Given the description of an element on the screen output the (x, y) to click on. 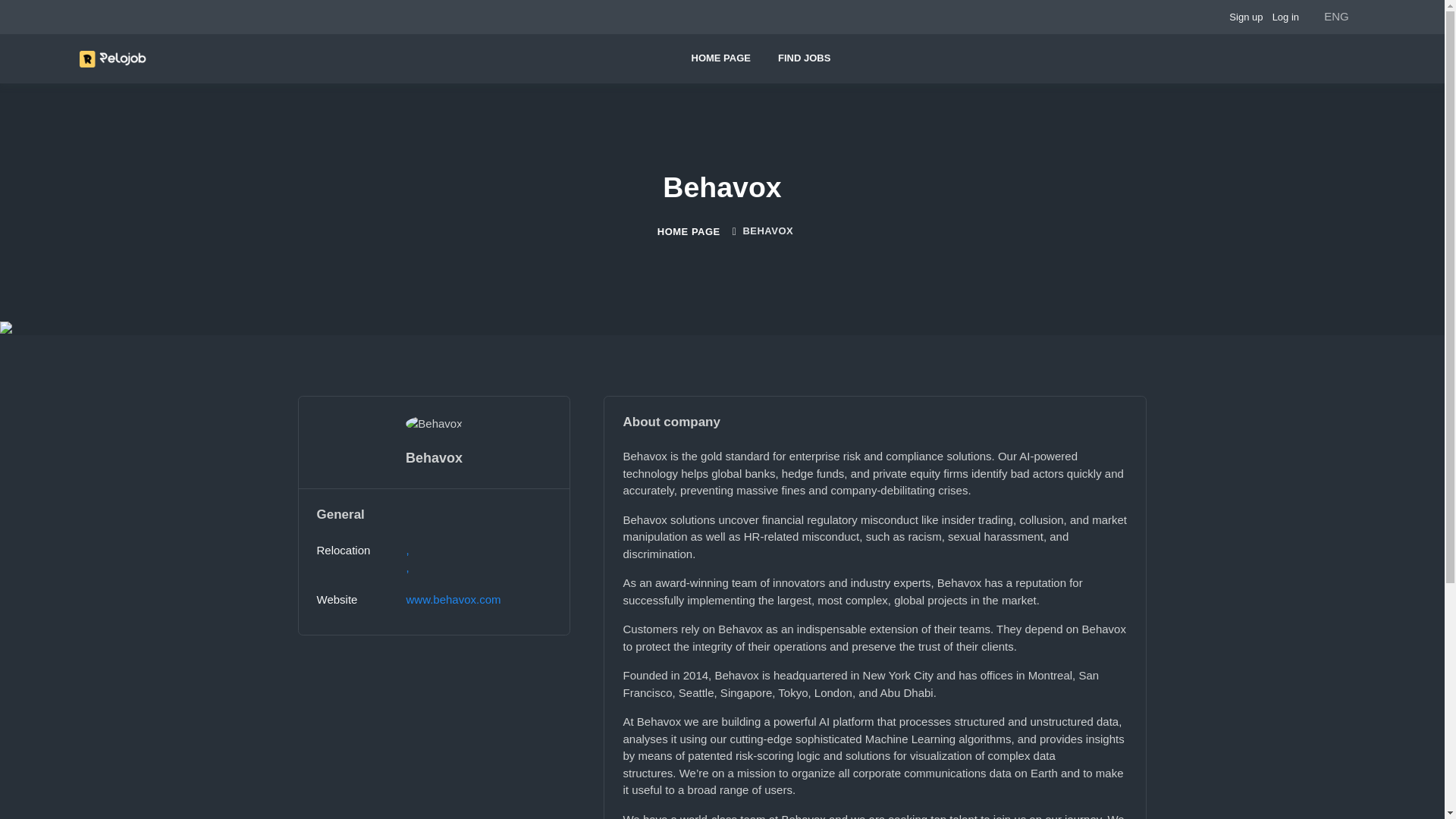
HOME PAGE (689, 231)
FIND JOBS (804, 58)
Log in (1285, 16)
ENG (1336, 17)
Sign up (1245, 16)
www.behavox.com (453, 599)
HOME PAGE (721, 58)
